Given the description of an element on the screen output the (x, y) to click on. 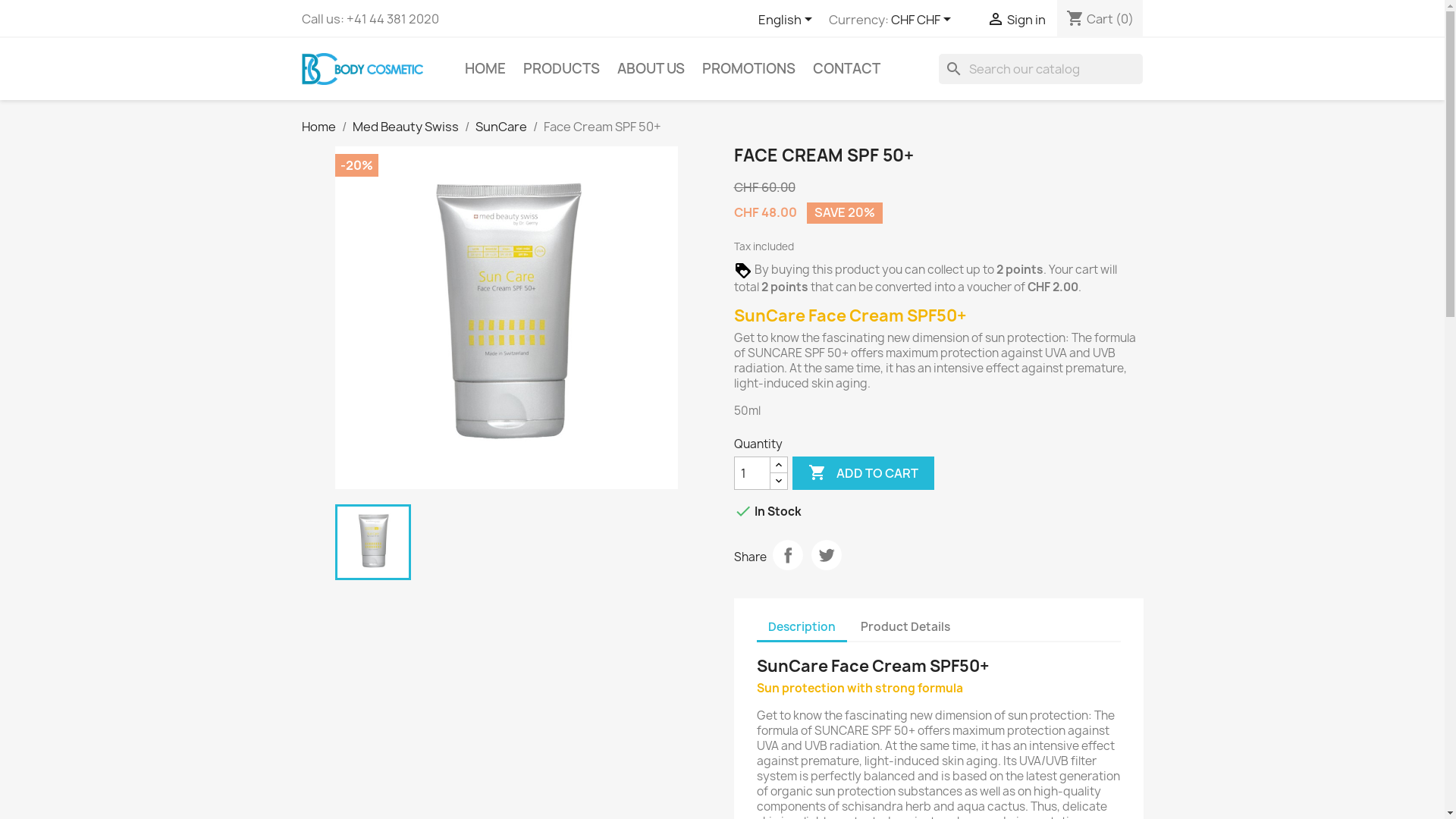
Home Element type: text (318, 126)
ABOUT US Element type: text (650, 68)
SunCare Element type: text (500, 126)
PROMOTIONS Element type: text (748, 68)
Med Beauty Swiss Element type: text (404, 126)
Product Details Element type: text (905, 626)
PRODUCTS Element type: text (561, 68)
Description Element type: text (801, 627)
Tweet Element type: text (826, 554)
CONTACT Element type: text (846, 68)
HOME Element type: text (484, 68)
Share Element type: text (786, 554)
